Given the description of an element on the screen output the (x, y) to click on. 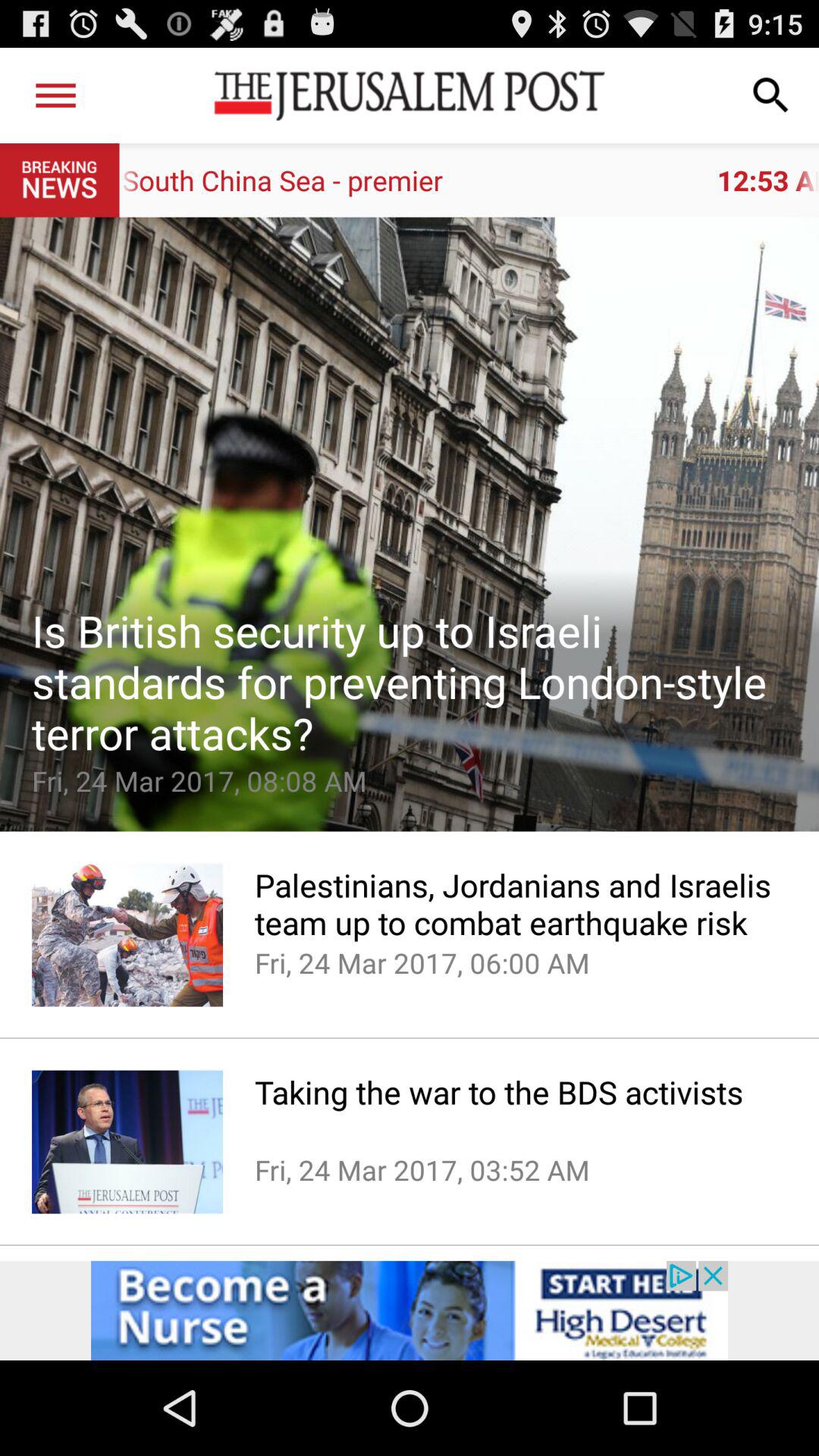
search the website (771, 95)
